Given the description of an element on the screen output the (x, y) to click on. 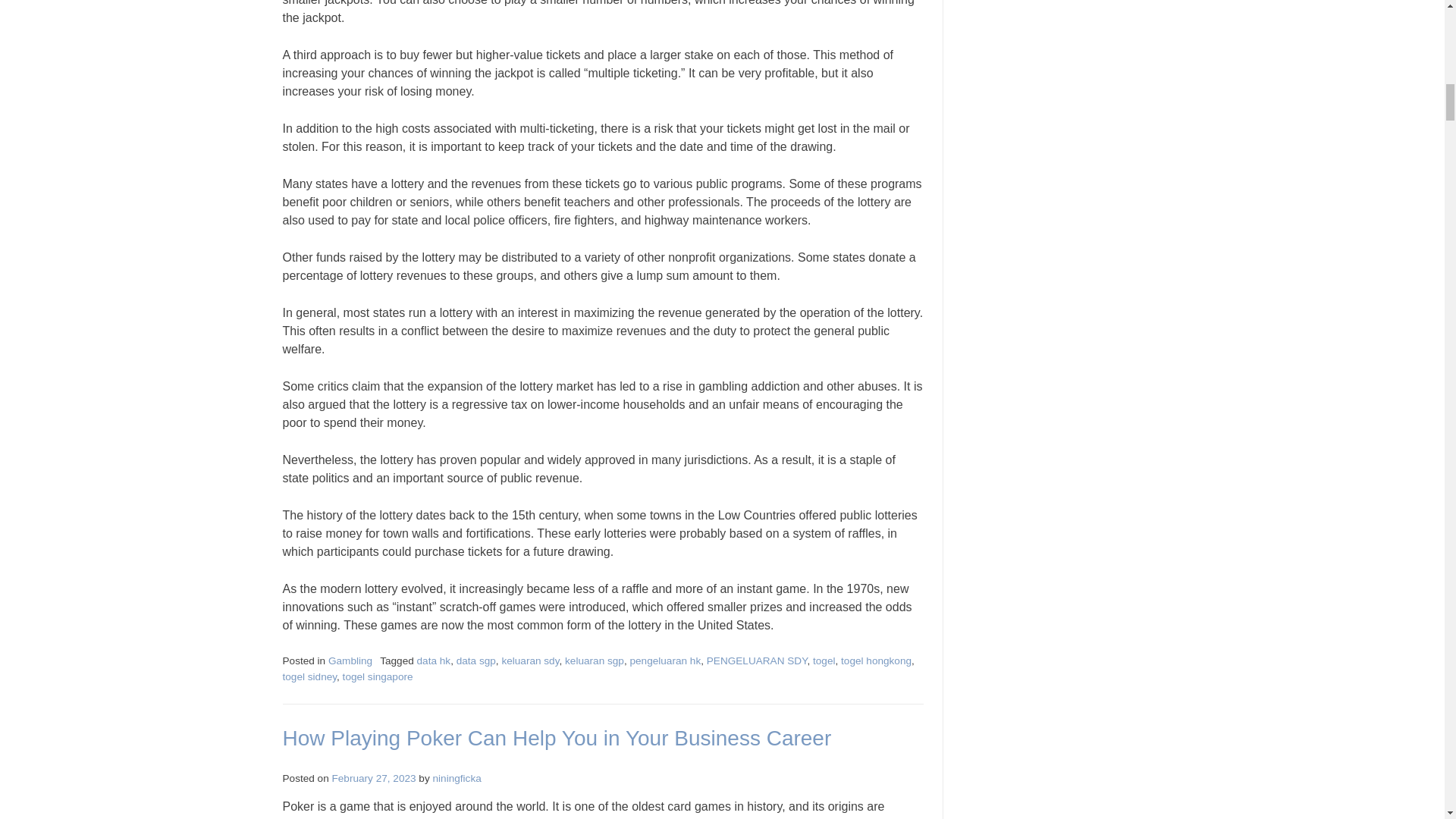
Gambling (350, 660)
PENGELUARAN SDY (757, 660)
keluaran sdy (529, 660)
niningficka (456, 778)
togel singapore (377, 676)
keluaran sgp (594, 660)
togel hongkong (876, 660)
togel (823, 660)
How Playing Poker Can Help You in Your Business Career (556, 738)
data sgp (476, 660)
data hk (433, 660)
February 27, 2023 (373, 778)
togel sidney (309, 676)
pengeluaran hk (664, 660)
